Given the description of an element on the screen output the (x, y) to click on. 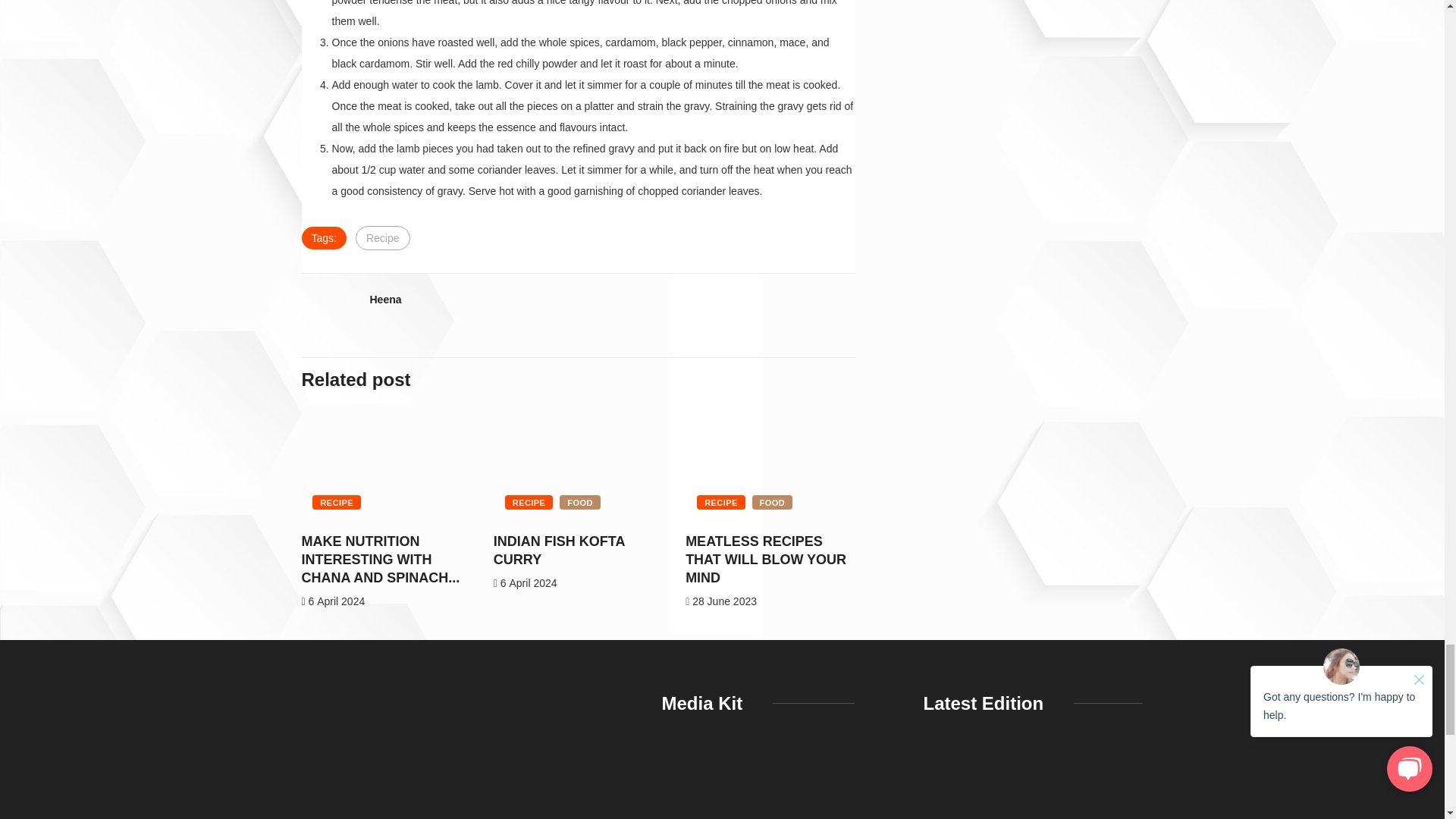
Latest Edition (1032, 785)
Media Kit (757, 785)
